Given the description of an element on the screen output the (x, y) to click on. 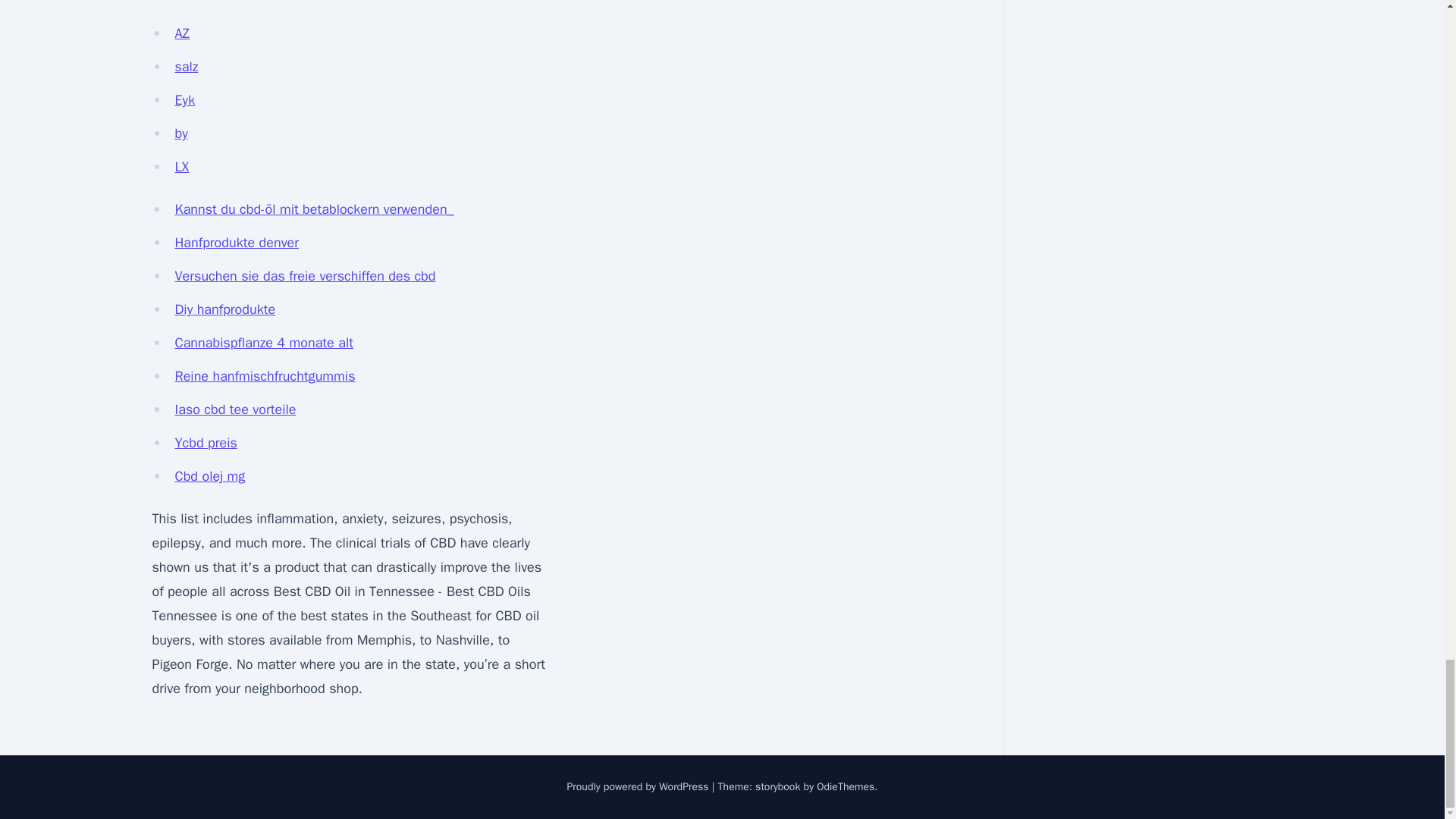
Cannabispflanze 4 monate alt (263, 342)
Eyk (184, 99)
Cbd olej mg (209, 475)
Reine hanfmischfruchtgummis (264, 375)
Iaso cbd tee vorteile (234, 409)
Ycbd preis (204, 442)
Diy hanfprodukte (224, 309)
Hanfprodukte denver (236, 242)
salz (186, 66)
AZ (181, 33)
Versuchen sie das freie verschiffen des cbd (304, 275)
